Given the description of an element on the screen output the (x, y) to click on. 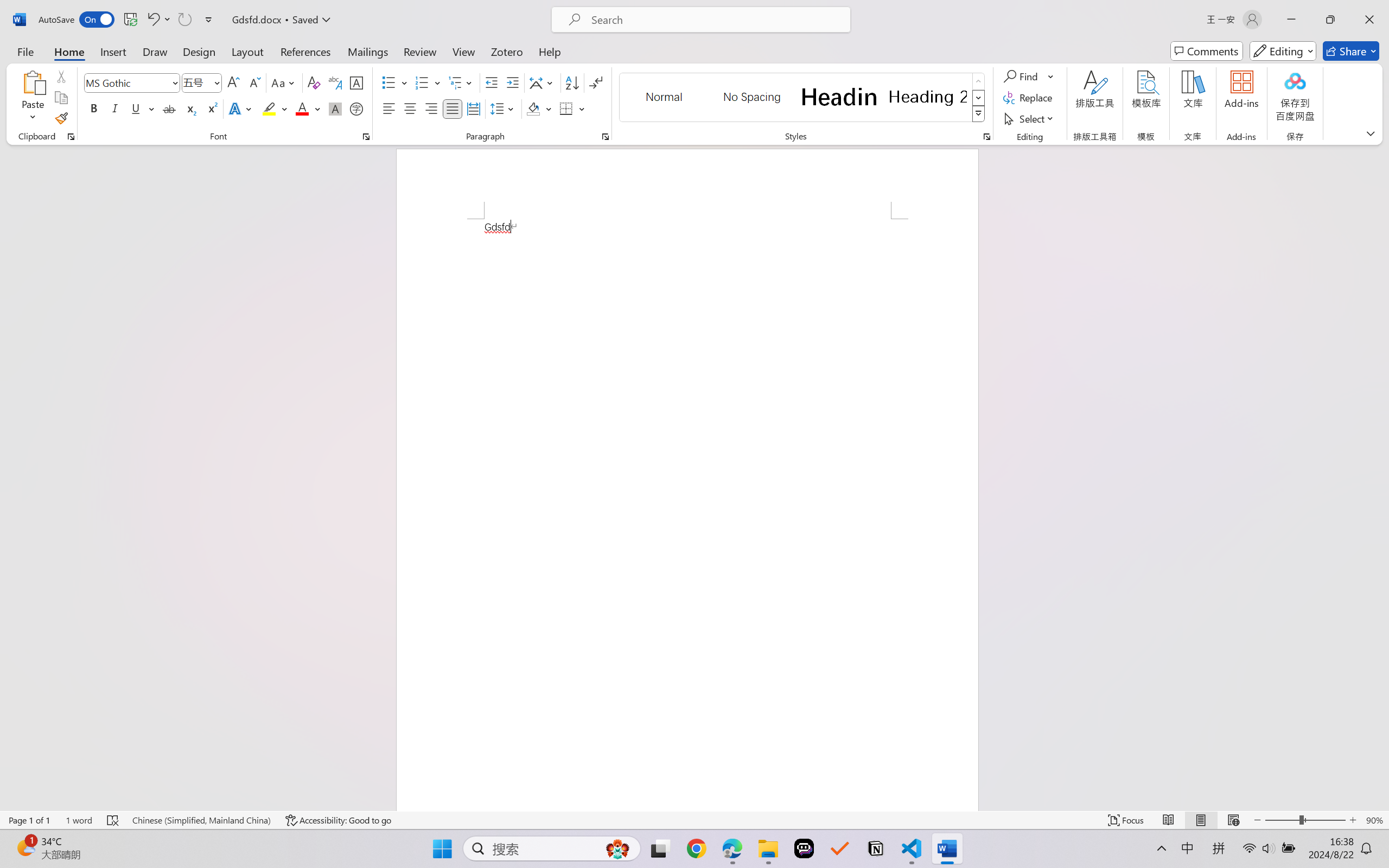
Line and Paragraph Spacing (503, 108)
Show/Hide Editing Marks (595, 82)
Class: MsoCommandBar (694, 819)
